Given the description of an element on the screen output the (x, y) to click on. 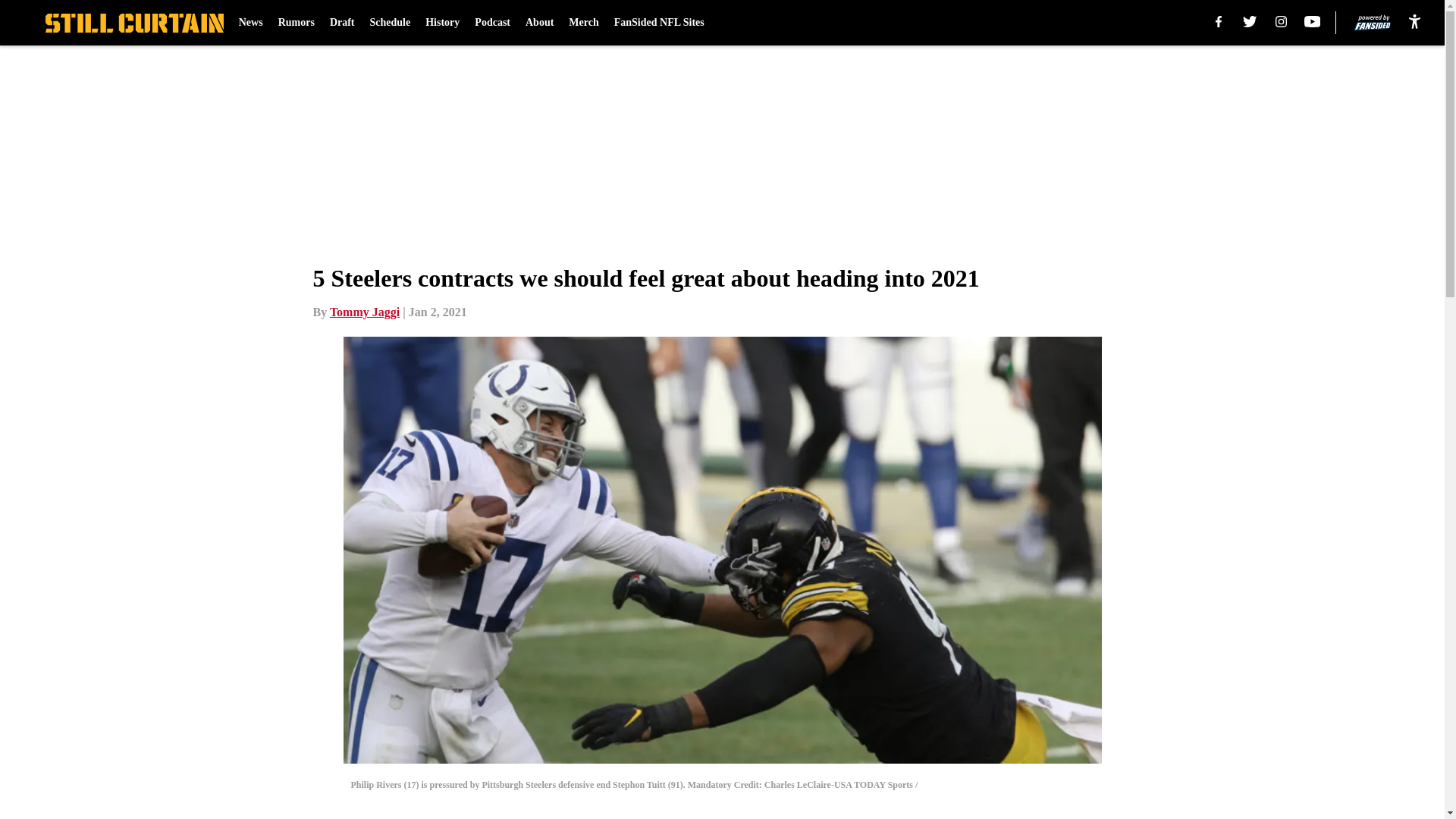
History (442, 22)
Merch (583, 22)
News (250, 22)
About (539, 22)
Schedule (389, 22)
Rumors (296, 22)
Tommy Jaggi (364, 311)
FanSided NFL Sites (659, 22)
Draft (342, 22)
Podcast (492, 22)
